Given the description of an element on the screen output the (x, y) to click on. 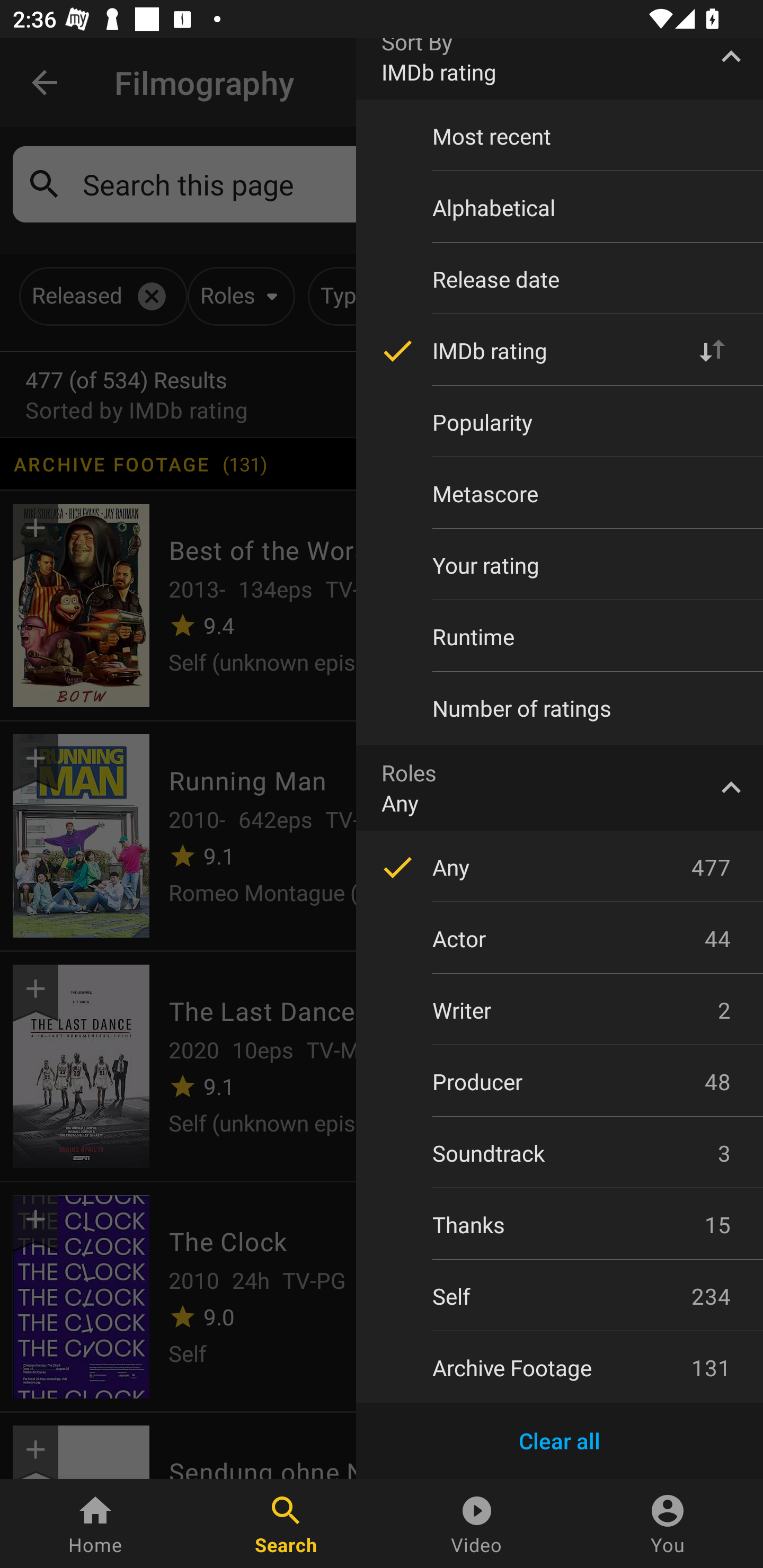
Sort By IMDb rating (559, 68)
Most recent (559, 135)
Alphabetical (559, 207)
Release date (559, 278)
IMDb rating (559, 350)
Popularity (559, 422)
Metascore (559, 493)
Your rating (559, 564)
Runtime (559, 636)
Number of ratings (559, 707)
Roles Any (559, 787)
Any 477 (559, 866)
Actor 44 (559, 938)
Writer 2 (559, 1010)
Producer 48 (559, 1081)
Soundtrack 3 (559, 1152)
Thanks 15 (559, 1224)
Self 234 (559, 1295)
Archive Footage 131 (559, 1367)
Clear all (559, 1440)
Home (95, 1523)
Video (476, 1523)
You (667, 1523)
